Given the description of an element on the screen output the (x, y) to click on. 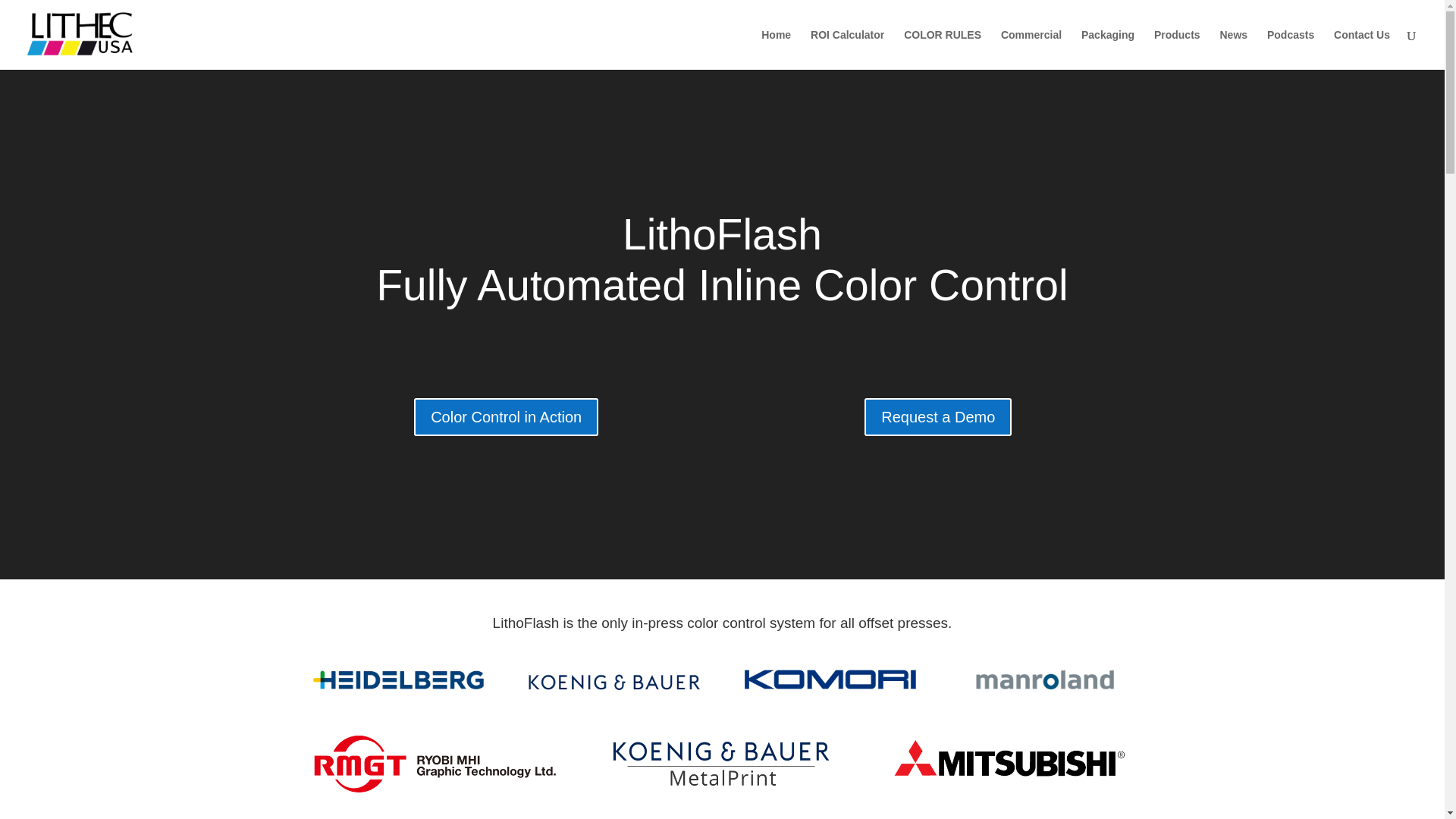
Commercial (1031, 49)
RMGT-Logo (433, 762)
kandb-metalprint-1 (721, 762)
mitusbishi1 (1009, 762)
Request a Demo (937, 416)
heidelberg (398, 679)
manRoland-Logo-1 (1045, 679)
COLOR RULES (942, 49)
ROI Calculator (846, 49)
Packaging (1107, 49)
Contact Us (1361, 49)
Podcasts (1290, 49)
Products (1176, 49)
Koenig-bauer-Logo-1 (613, 679)
Komori-Logo (829, 679)
